Given the description of an element on the screen output the (x, y) to click on. 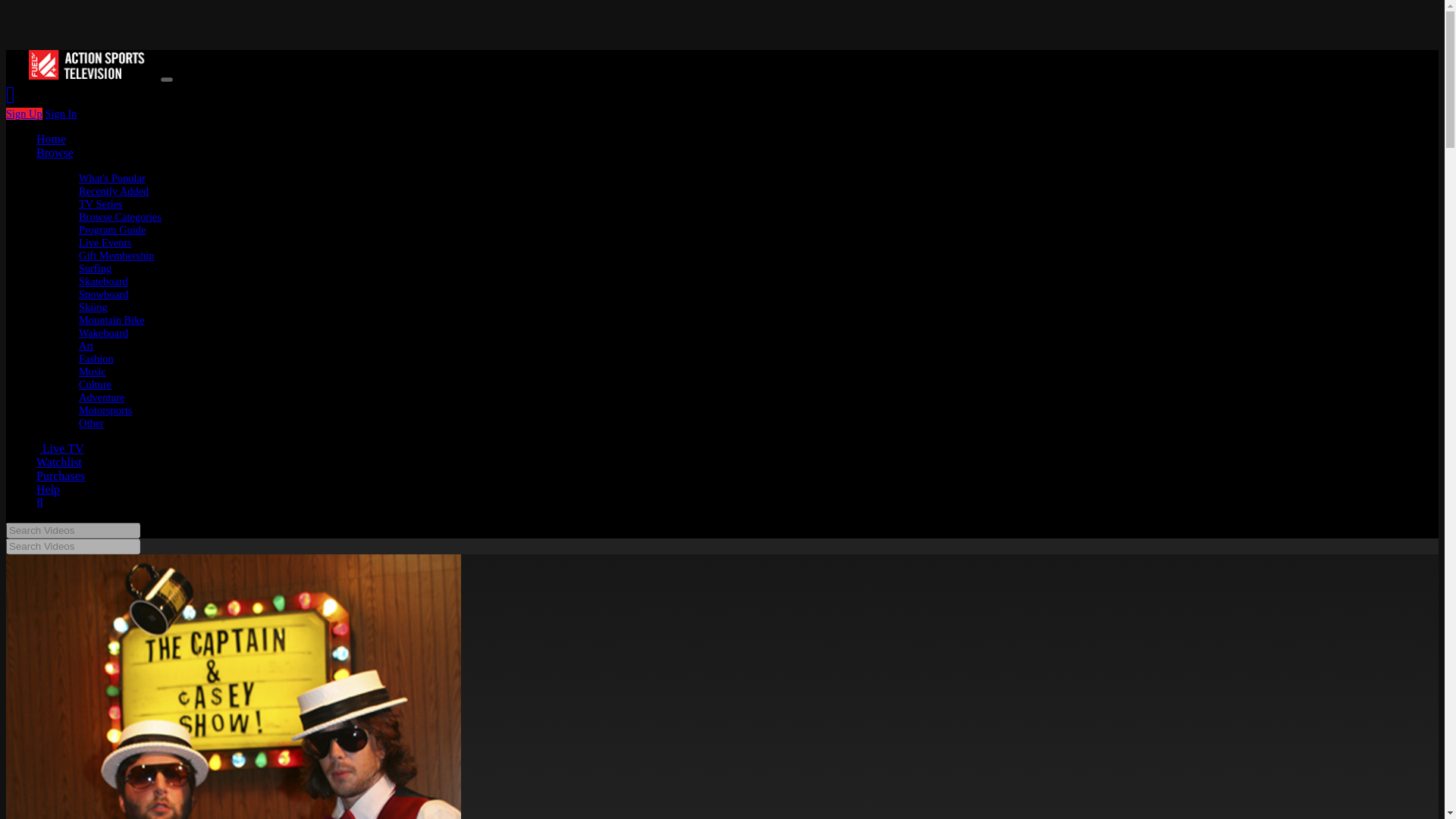
Help (47, 489)
Music (92, 371)
Program Guide (111, 229)
Motorsports (105, 410)
Fashion (95, 358)
Art (85, 345)
What's Popular (111, 177)
Mountain Bike (111, 319)
Sign Up (23, 113)
Snowboard (103, 294)
